Given the description of an element on the screen output the (x, y) to click on. 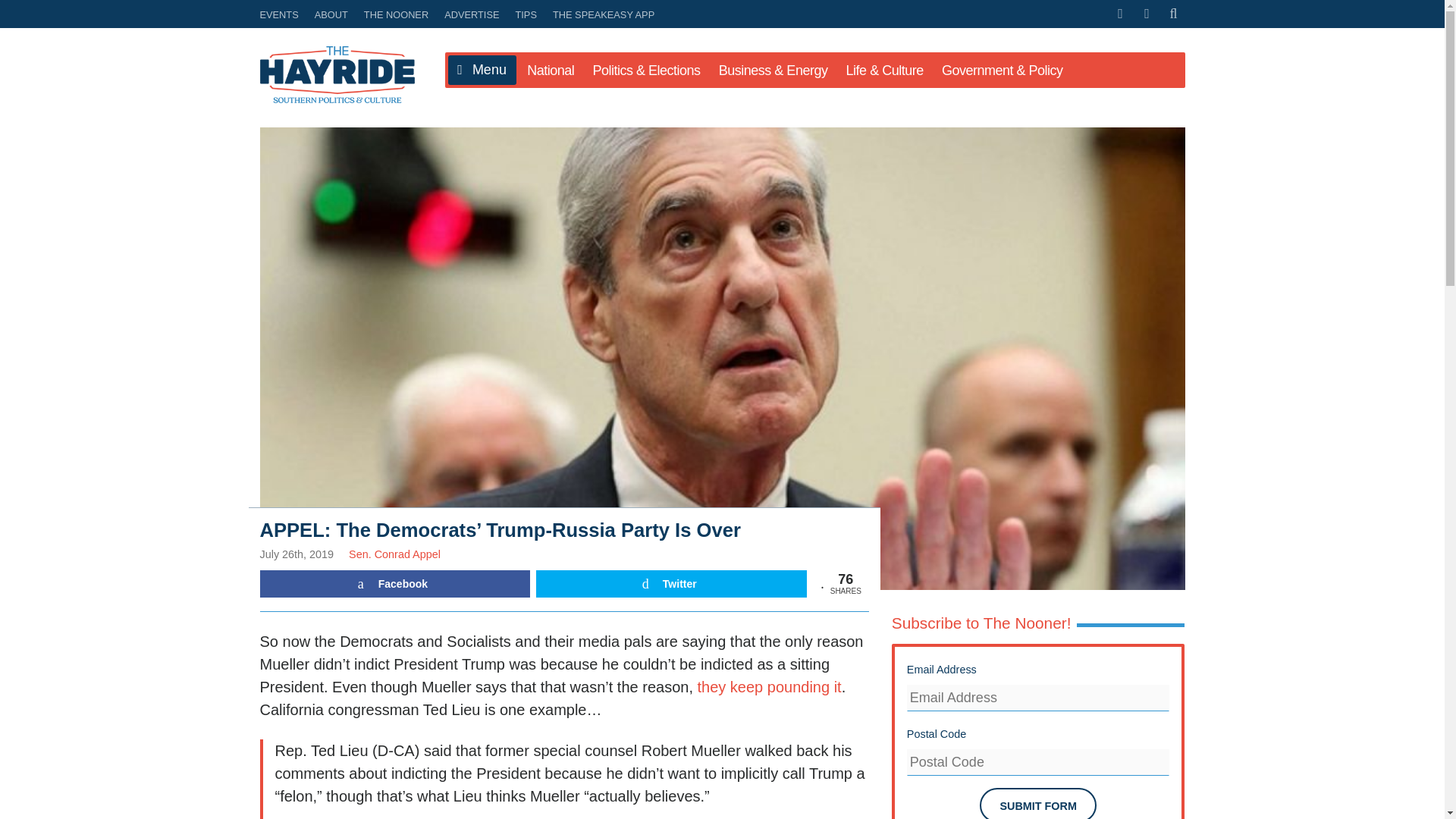
Twitter (670, 583)
Facebook (394, 583)
TIPS (526, 14)
Share on Facebook (394, 583)
National (549, 70)
Sen. Conrad Appel (395, 553)
they keep pounding it (769, 686)
THE NOONER (395, 14)
EVENTS (281, 14)
THE SPEAKEASY APP (600, 14)
ADVERTISE (471, 14)
Share on Twitter (670, 583)
Menu (480, 70)
ABOUT (330, 14)
